Given the description of an element on the screen output the (x, y) to click on. 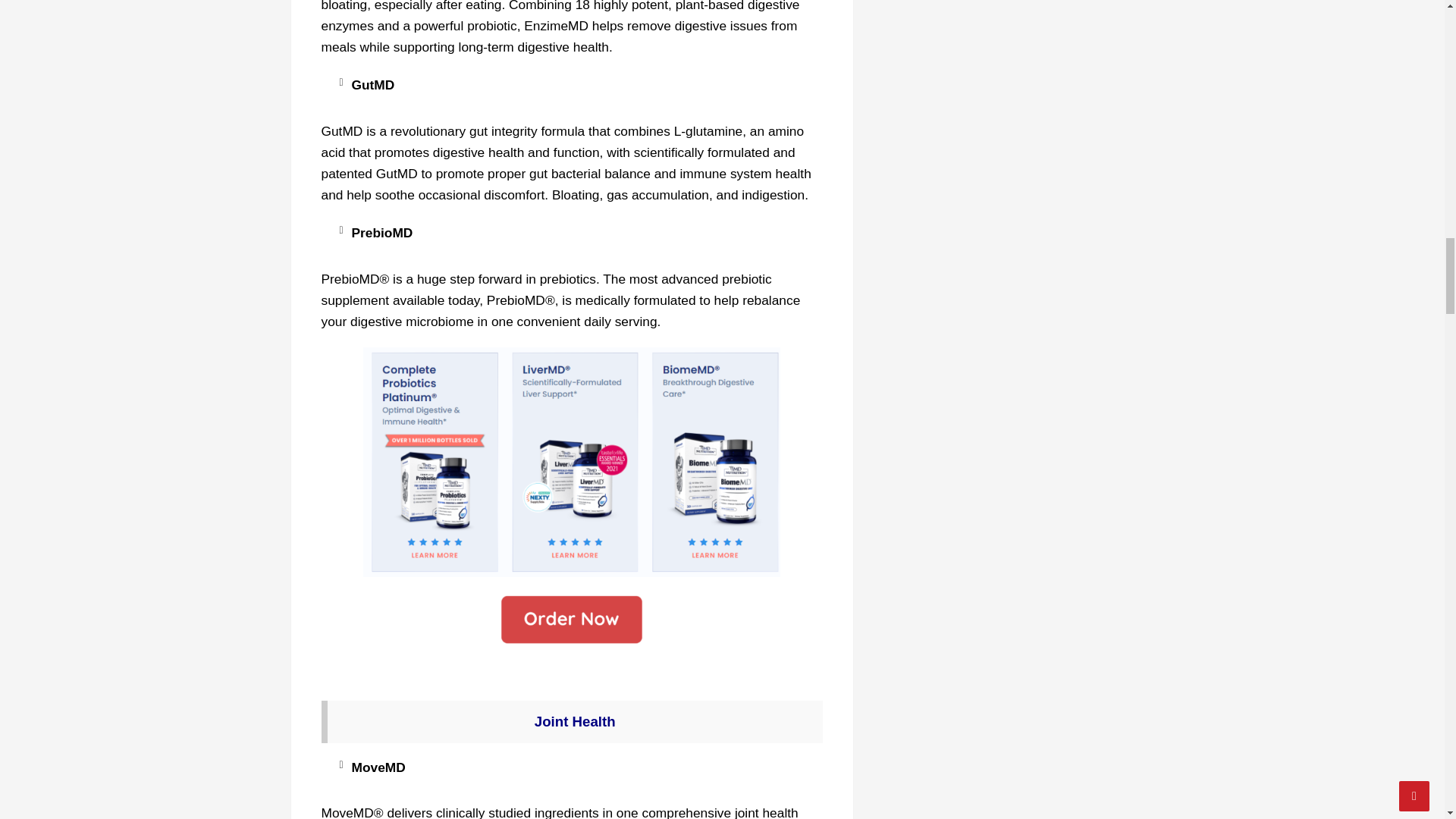
1MD Nutrition (571, 621)
1MD Nutrition (571, 462)
1MD Nutrition Reviews 2 (571, 462)
1MD Nutrition Reviews 3 (571, 621)
